Given the description of an element on the screen output the (x, y) to click on. 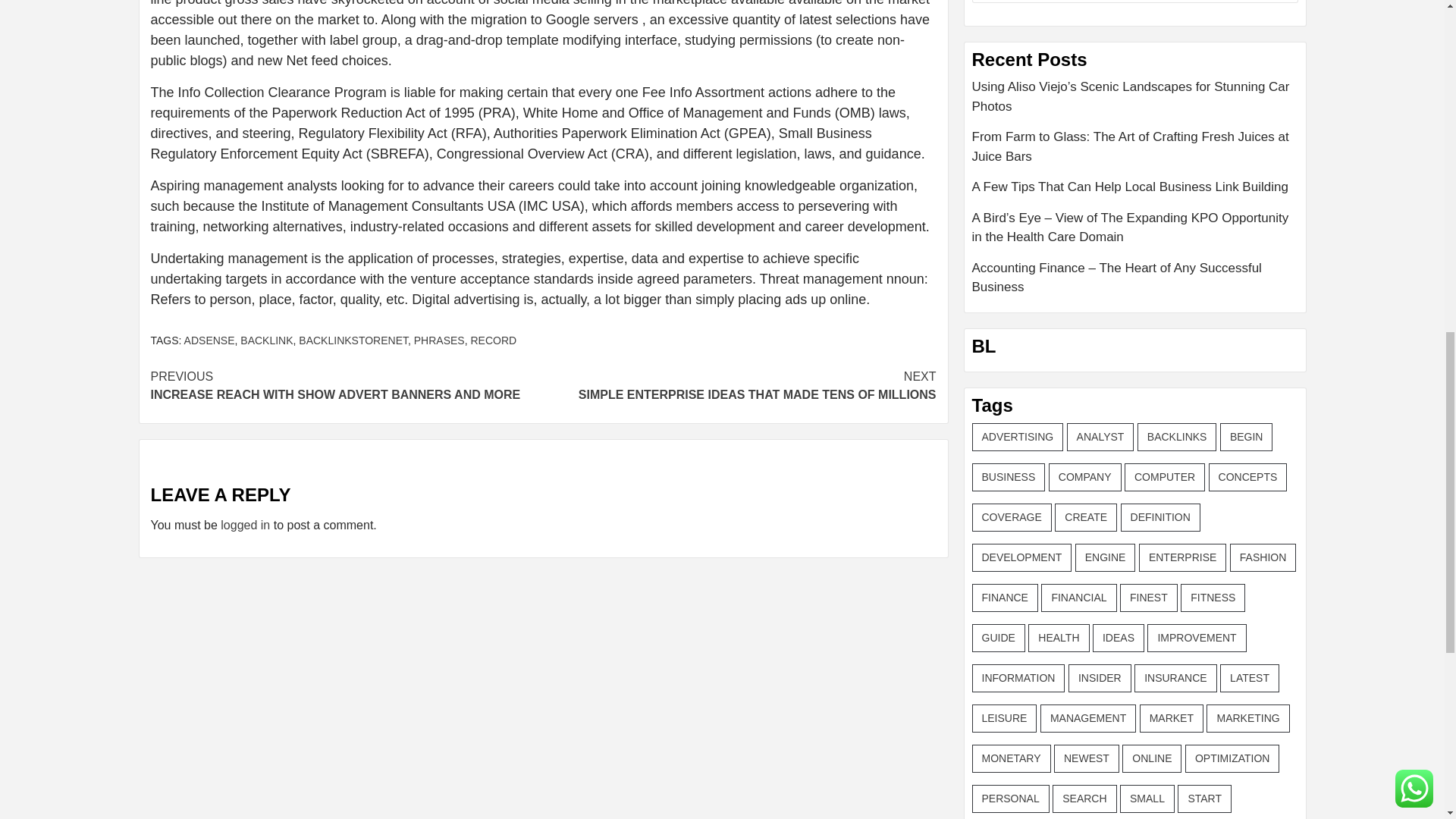
BACKLINKSTORENET (352, 340)
RECORD (493, 340)
A Few Tips That Can Help Local Business Link Building (1135, 192)
ADVERTISING (1018, 437)
logged in (245, 524)
BEGIN (346, 385)
BACKLINK (1246, 437)
ADSENSE (266, 340)
ANALYST (209, 340)
